Given the description of an element on the screen output the (x, y) to click on. 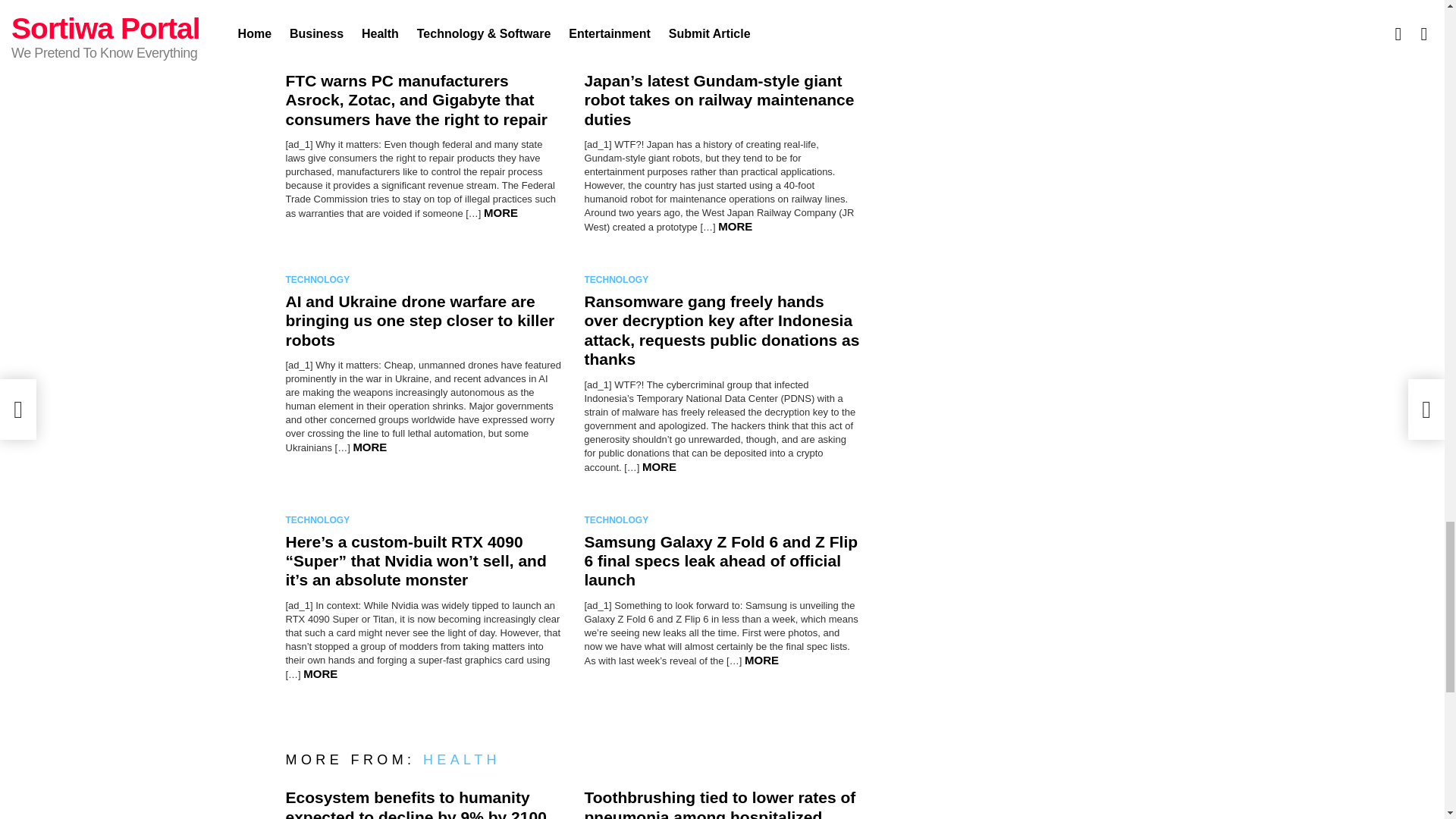
TECHNOLOGY (618, 58)
MORE (734, 226)
TECHNOLOGY (320, 279)
TECHNOLOGY (320, 58)
MORE (500, 212)
TECHNOLOGY (618, 279)
MORE (659, 466)
MORE (369, 446)
